Given the description of an element on the screen output the (x, y) to click on. 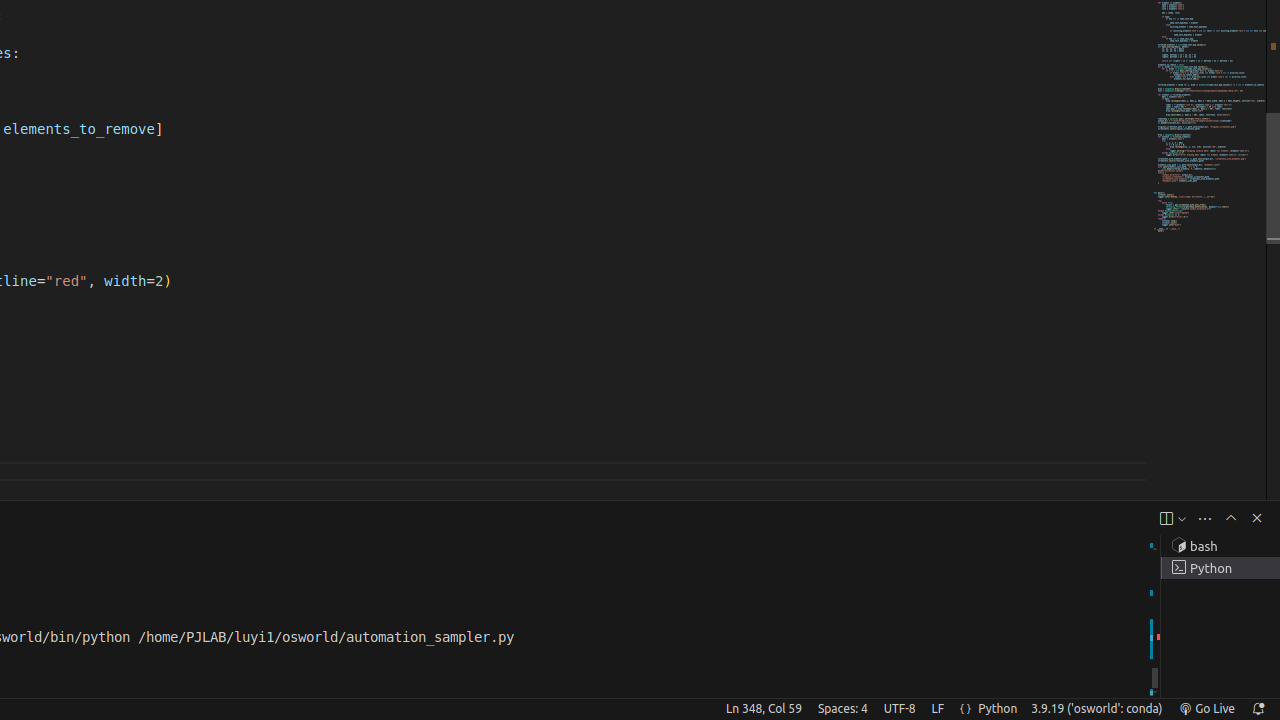
Views and More Actions... Element type: push-button (1205, 518)
